Given the description of an element on the screen output the (x, y) to click on. 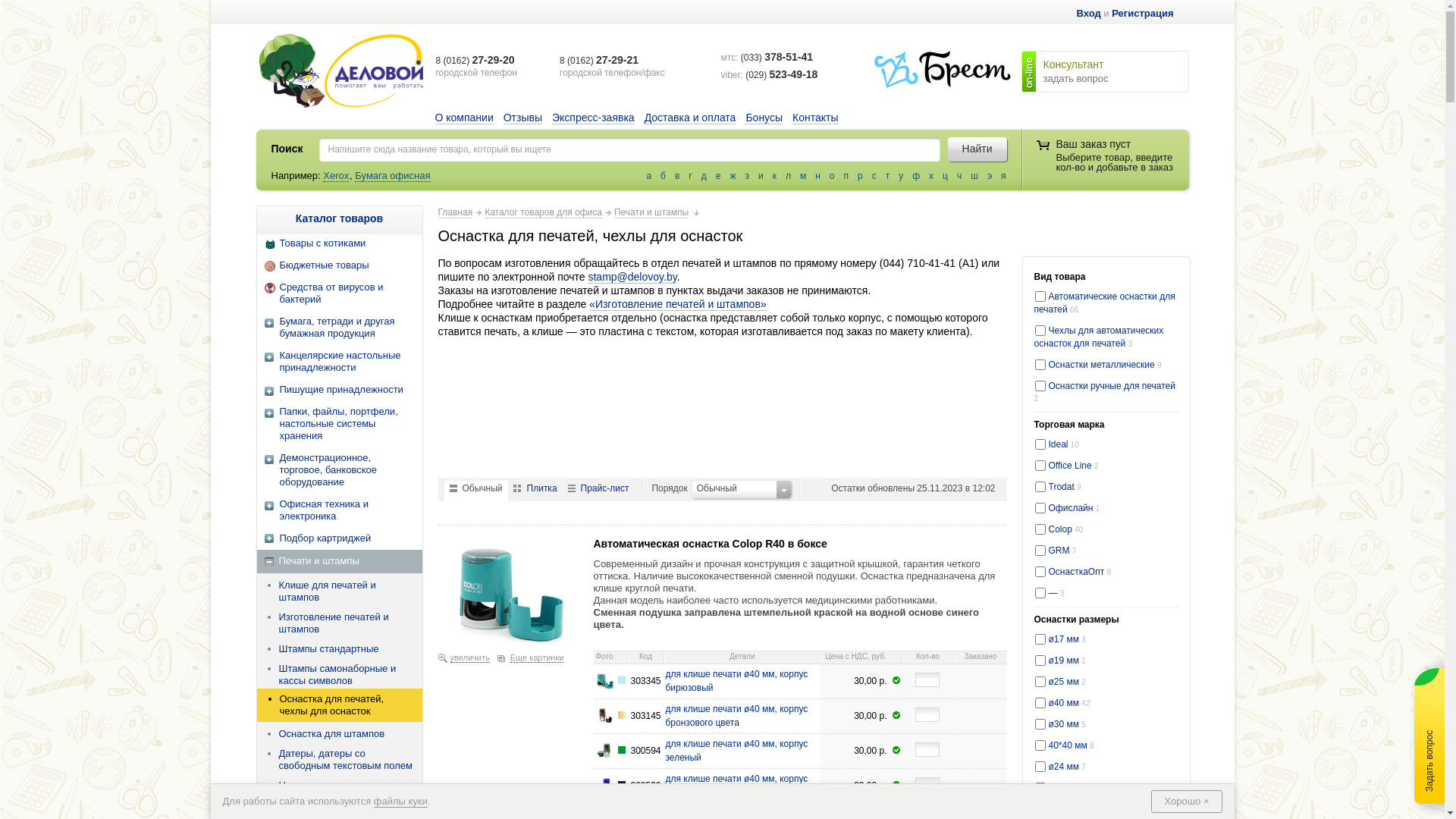
viber: (029) 523-49-18 Element type: text (769, 74)
8 (0162) 27-29-20 Element type: text (474, 59)
stamp@delovoy.by Element type: text (631, 276)
8 (0162) 27-29-21 Element type: text (598, 59)
